Given the description of an element on the screen output the (x, y) to click on. 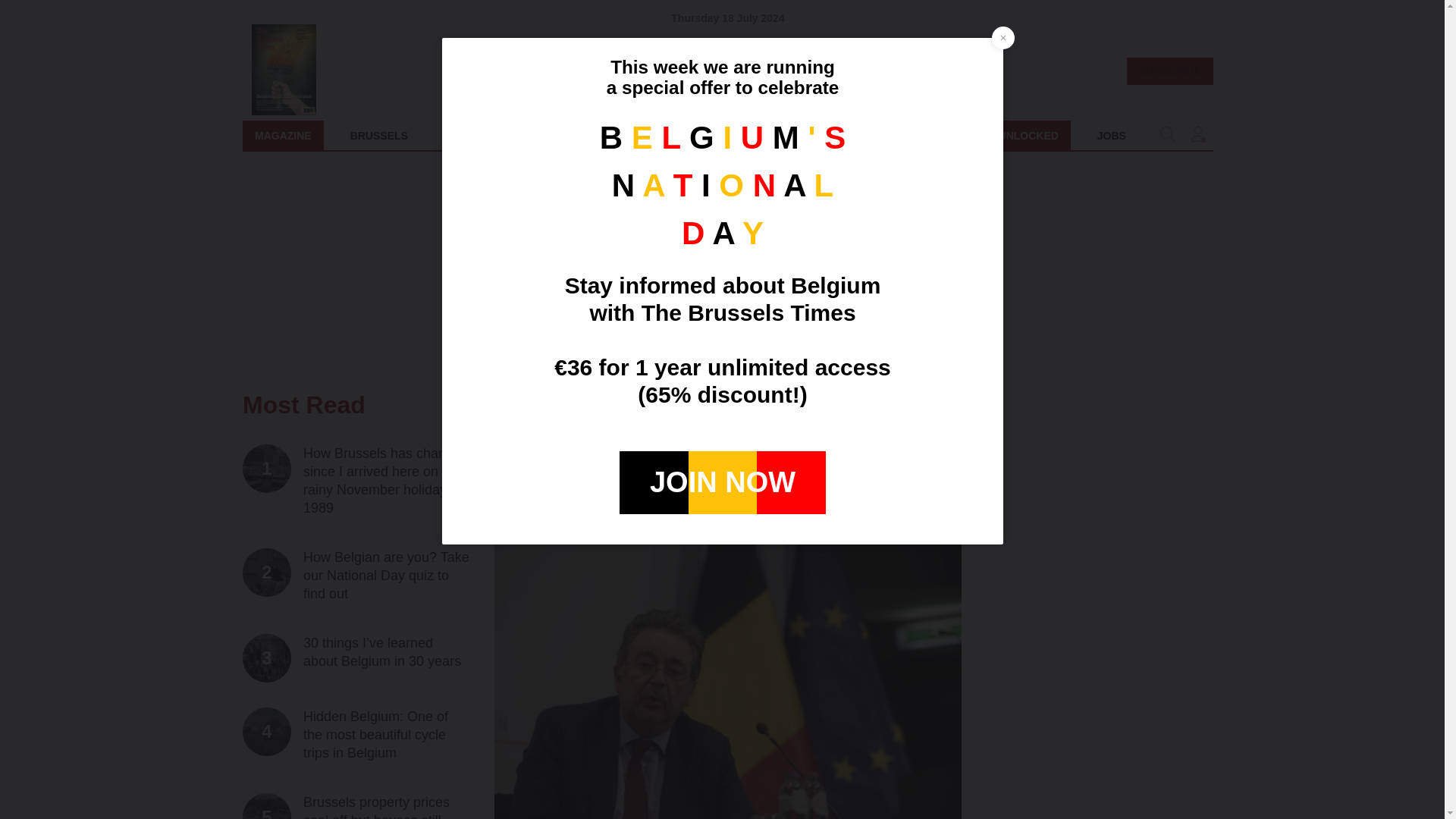
BRUSSELS (378, 135)
How Belgian are you? Take our National Day quiz to find out (386, 574)
BUSINESS (560, 135)
WORLD (872, 135)
SUBSCRIBE (1169, 71)
JOBS (1111, 135)
EU AFFAIRS (994, 135)
BELGIUM (781, 135)
3rd party ad content (470, 135)
